Given the description of an element on the screen output the (x, y) to click on. 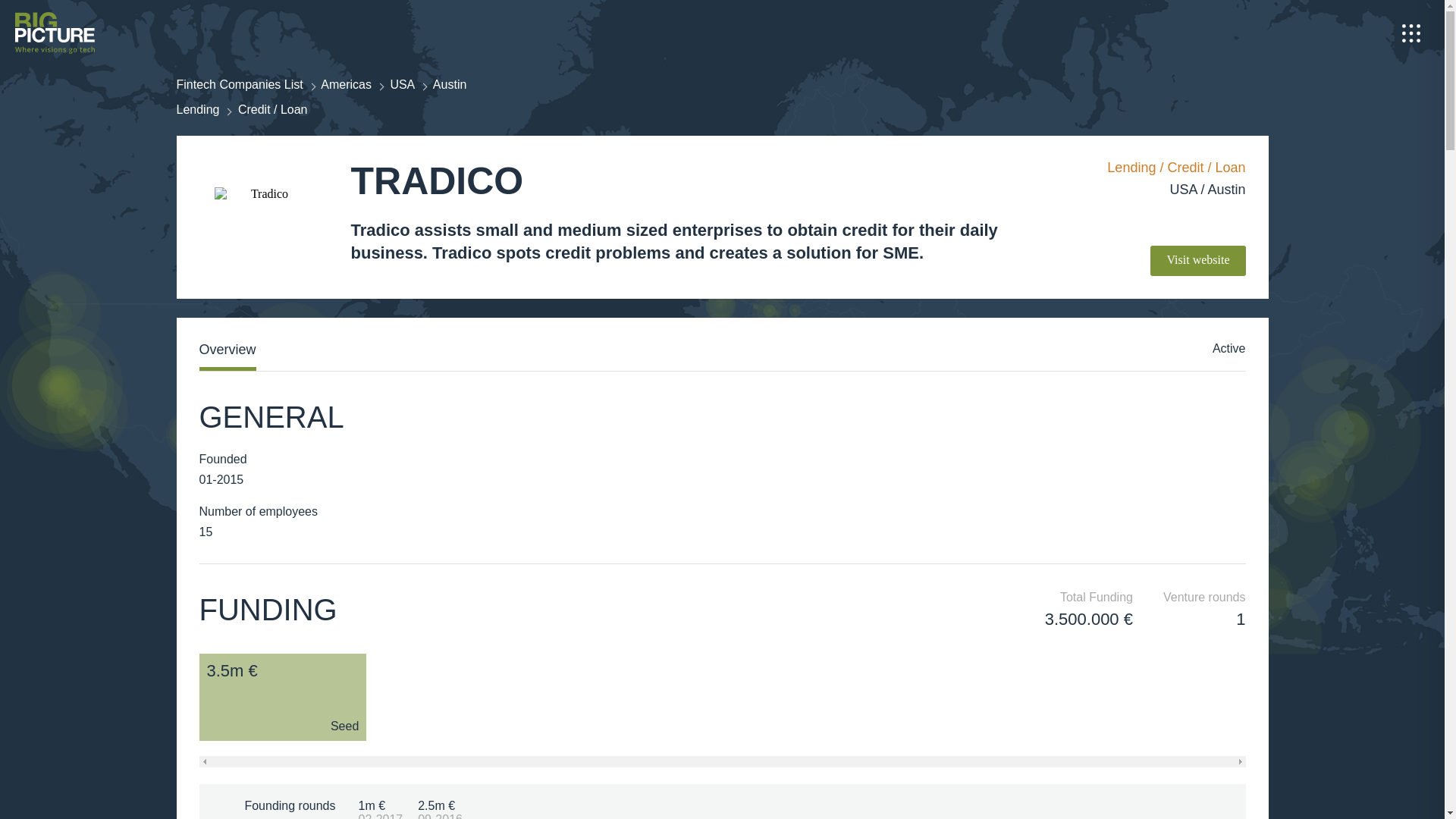
USA (402, 83)
Americas (345, 83)
405 (1229, 355)
Visit website (1197, 260)
Lending (197, 109)
Austin (448, 83)
Fintech Companies List (239, 83)
